Given the description of an element on the screen output the (x, y) to click on. 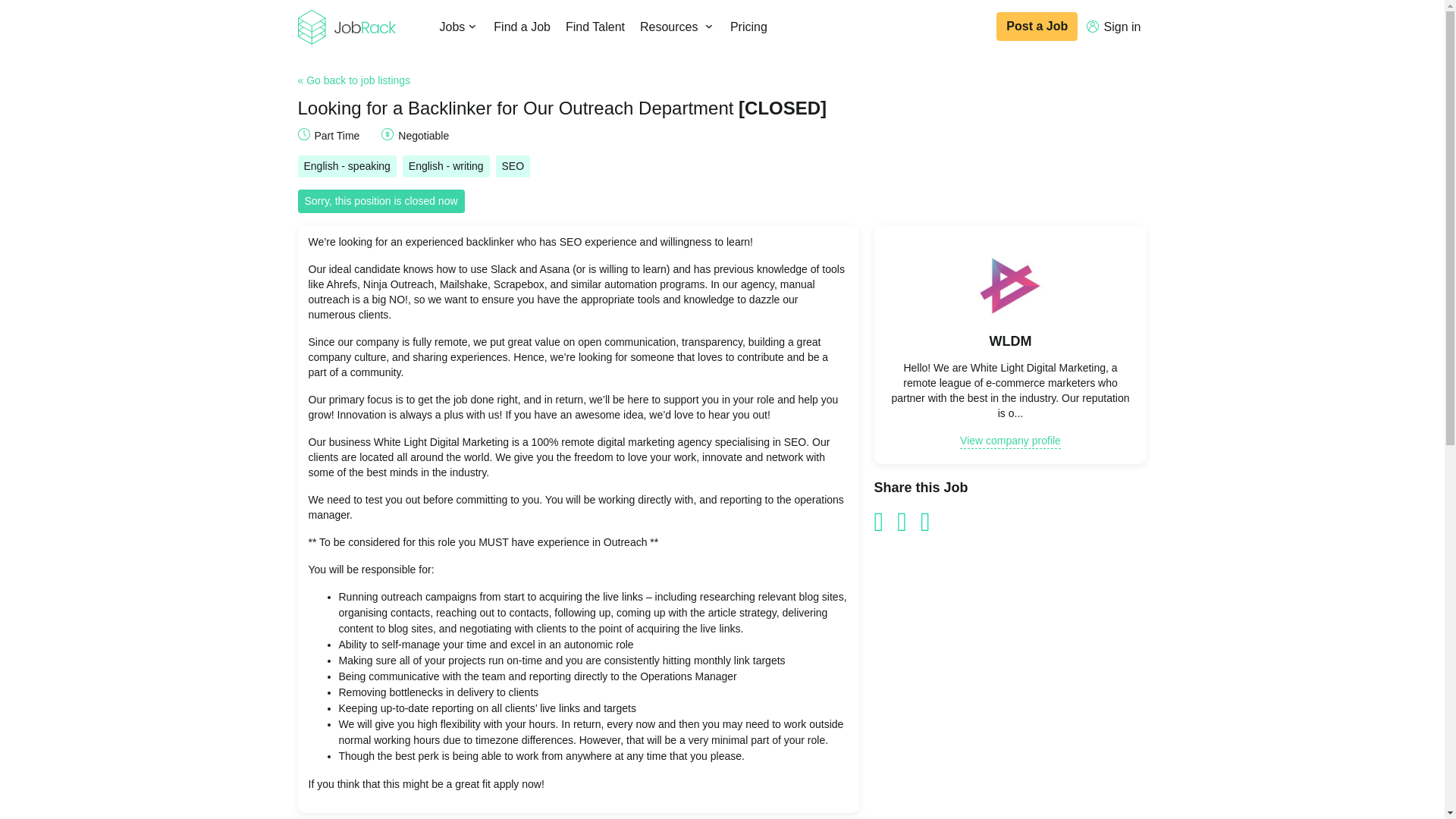
Post a Job (1036, 26)
Pricing (748, 27)
Find a Job (521, 27)
Find Talent (594, 27)
Sign in (1113, 27)
Jobs (458, 27)
Sorry, this position is closed now (380, 200)
View company profile (1010, 441)
Pricing (748, 27)
Post Job (1036, 26)
Sign in (1113, 27)
Resources (676, 27)
